Given the description of an element on the screen output the (x, y) to click on. 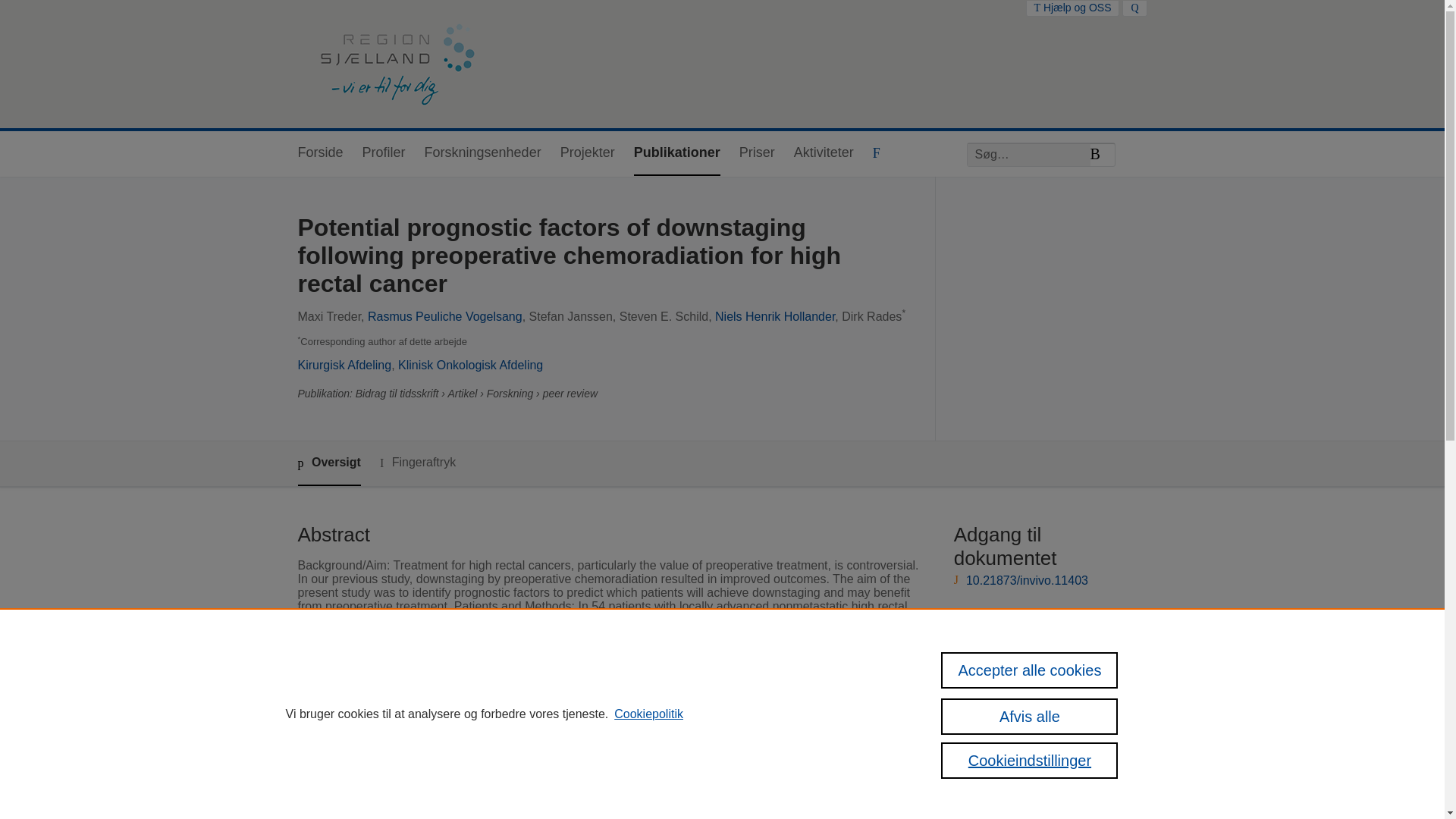
Aktiviteter (823, 153)
Rasmus Peuliche Vogelsang (445, 316)
In Vivo (530, 792)
Forskningsenheder (483, 153)
Niels Henrik Hollander (774, 316)
Projekter (587, 153)
Profiler (384, 153)
Publikationer (676, 153)
Fingeraftryk (417, 462)
Oversigt (328, 463)
Kirurgisk Afdeling (344, 364)
Klinisk Onkologisk Afdeling (470, 364)
Forside (319, 153)
